Given the description of an element on the screen output the (x, y) to click on. 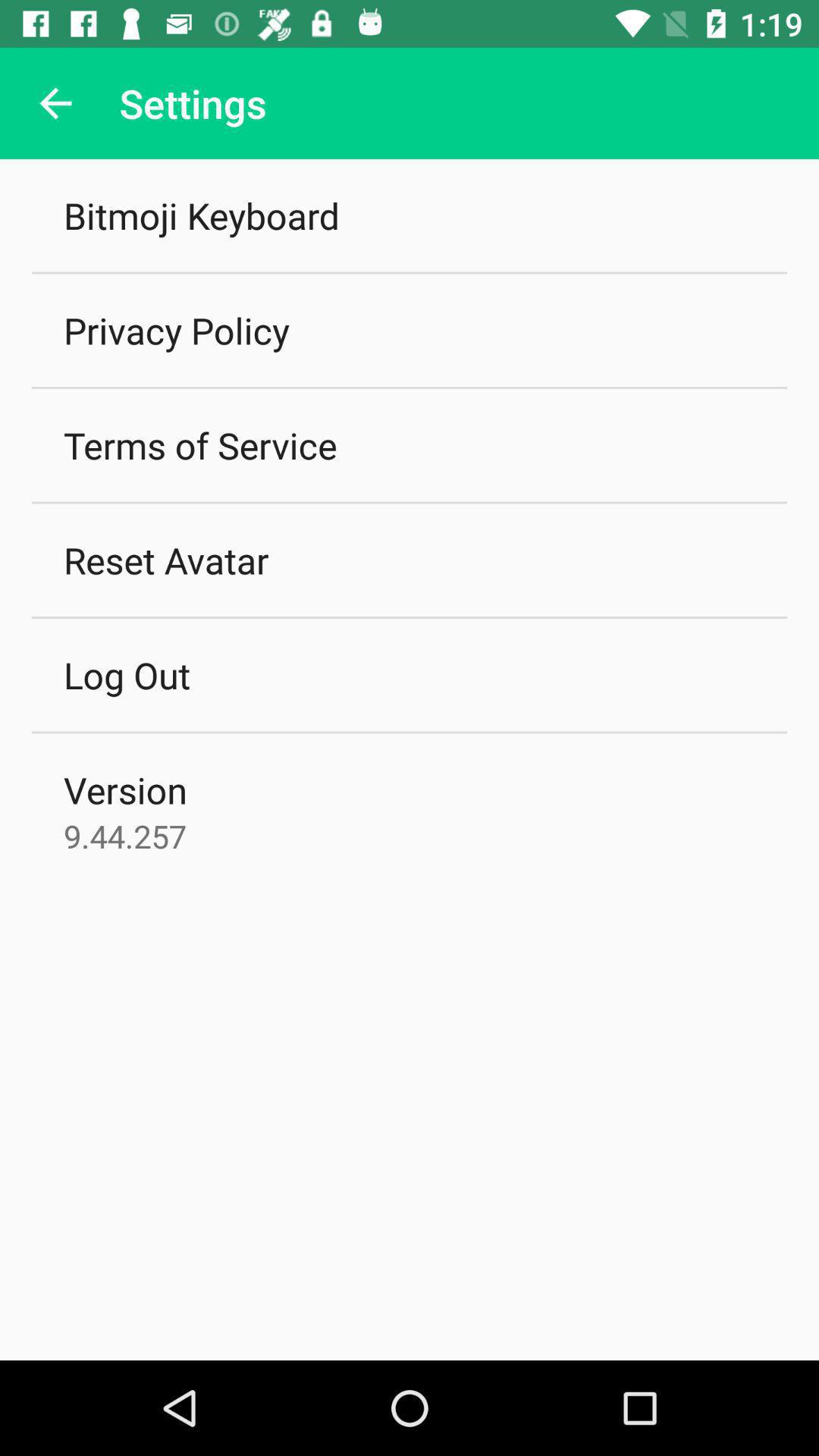
turn on the item above the privacy policy (201, 215)
